Given the description of an element on the screen output the (x, y) to click on. 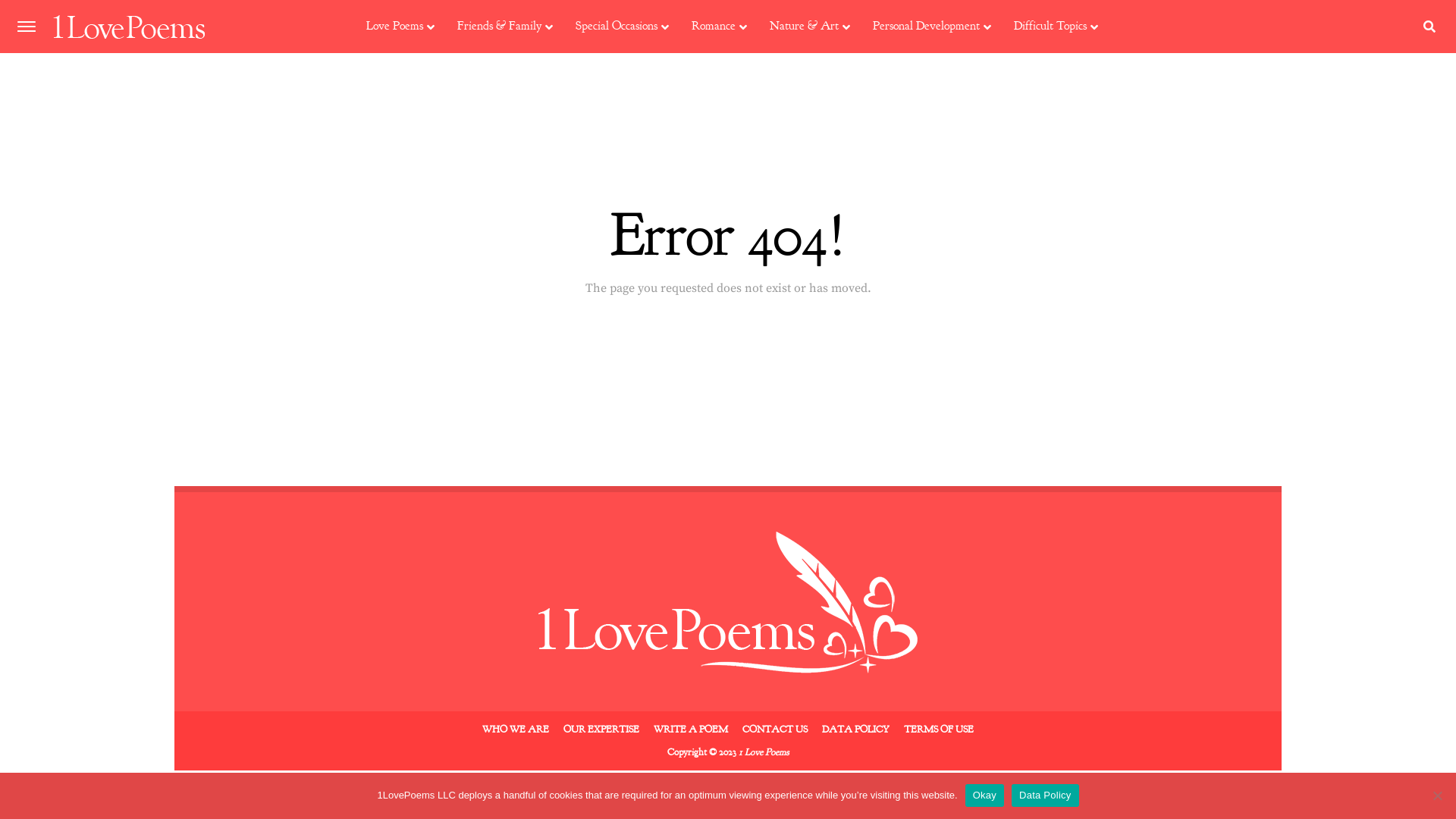
WRITE A POEM Element type: text (690, 729)
CONTACT US Element type: text (774, 729)
TERMS OF USE Element type: text (938, 729)
Okay Element type: text (984, 795)
No Element type: hover (1436, 795)
Data Policy Element type: text (1045, 795)
OUR EXPERTISE Element type: text (601, 729)
DATA POLICY Element type: text (855, 729)
WHO WE ARE Element type: text (515, 729)
